Given the description of an element on the screen output the (x, y) to click on. 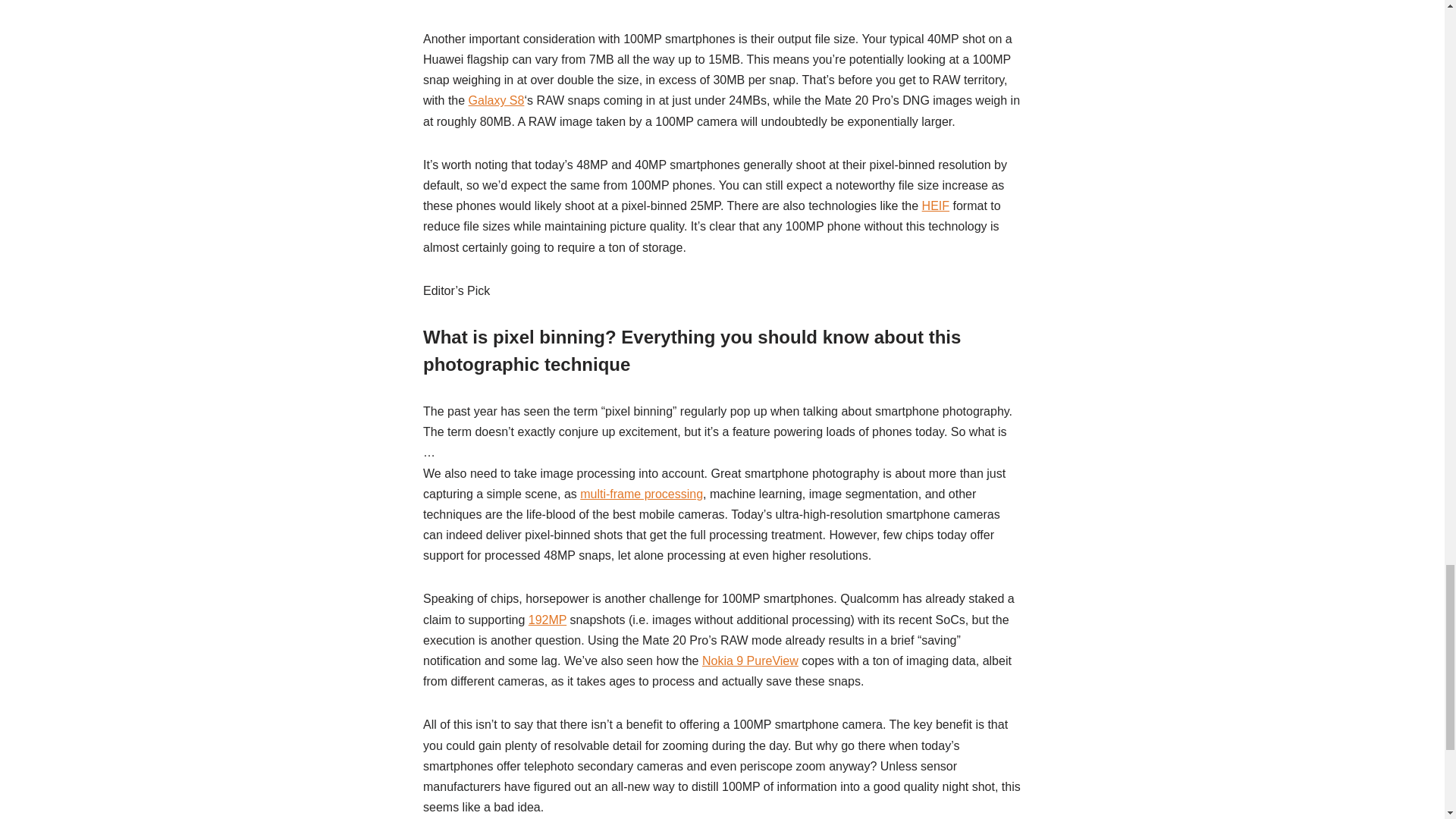
Galaxy S8 (496, 100)
HEIF (935, 205)
multi-frame processing (641, 493)
